Given the description of an element on the screen output the (x, y) to click on. 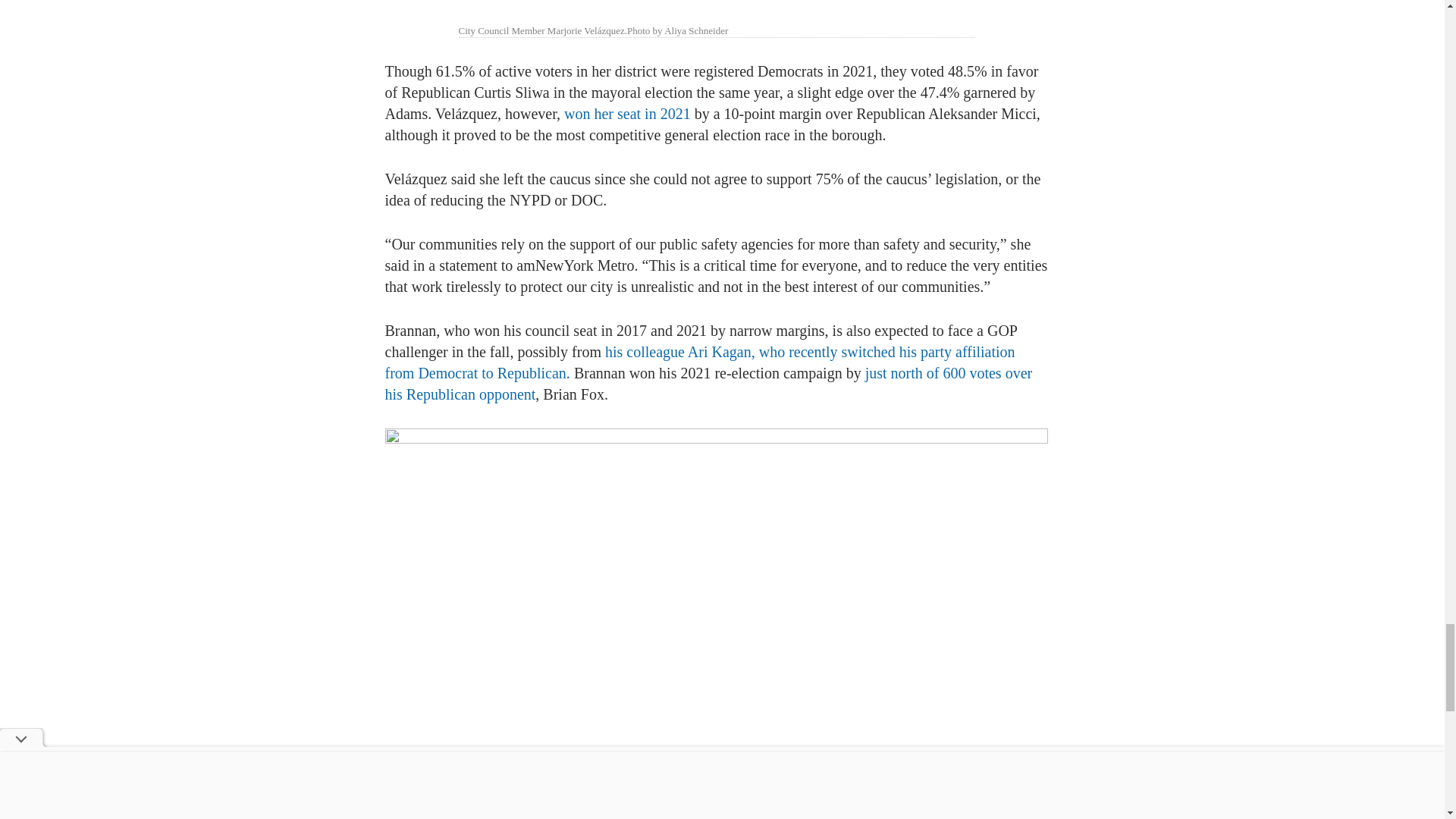
just north of 600 votes over his Republican opponent (708, 383)
won her seat in 2021 (627, 113)
